Given the description of an element on the screen output the (x, y) to click on. 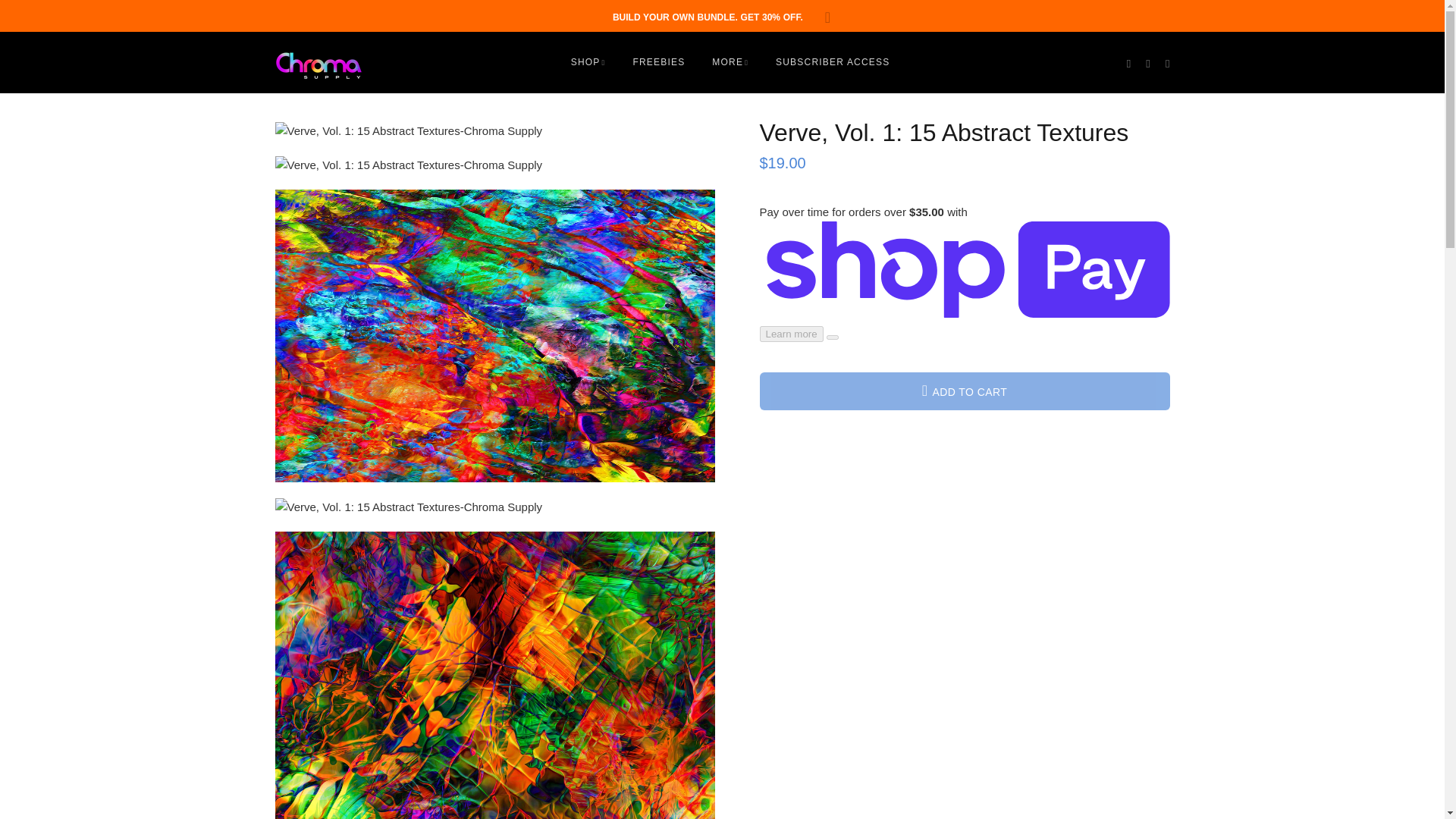
SHOP (591, 62)
FREEBIES (658, 62)
MORE (729, 62)
